Given the description of an element on the screen output the (x, y) to click on. 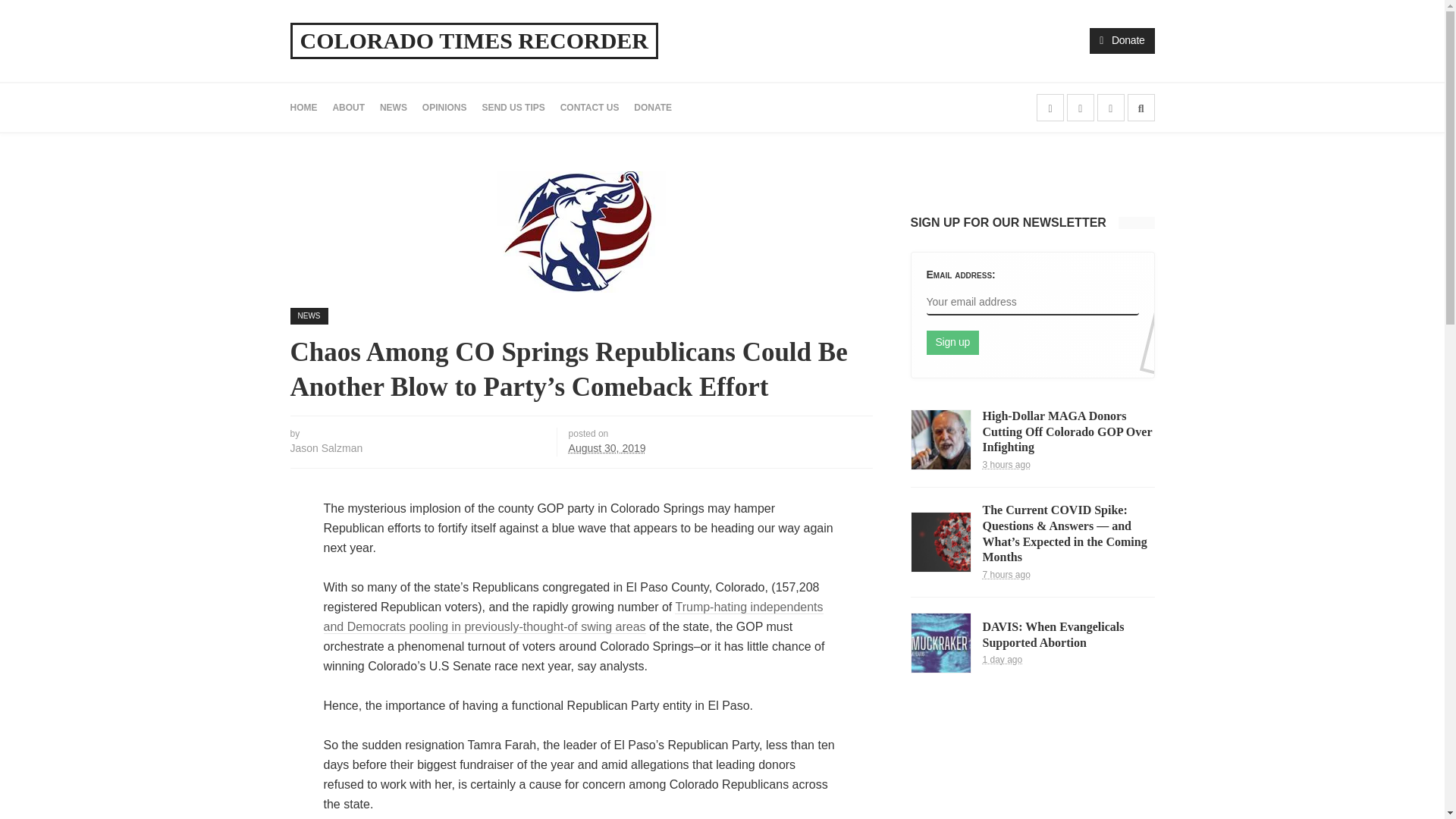
View all posts in News (308, 315)
Posts by Jason Salzman (325, 448)
August 30, 2019 (607, 448)
X (1080, 106)
COLORADO TIMES RECORDER (474, 40)
RSS (1110, 106)
Sign up (952, 342)
NEWS (308, 315)
Jason Salzman (325, 448)
Colorado Times Recorder (474, 40)
